Given the description of an element on the screen output the (x, y) to click on. 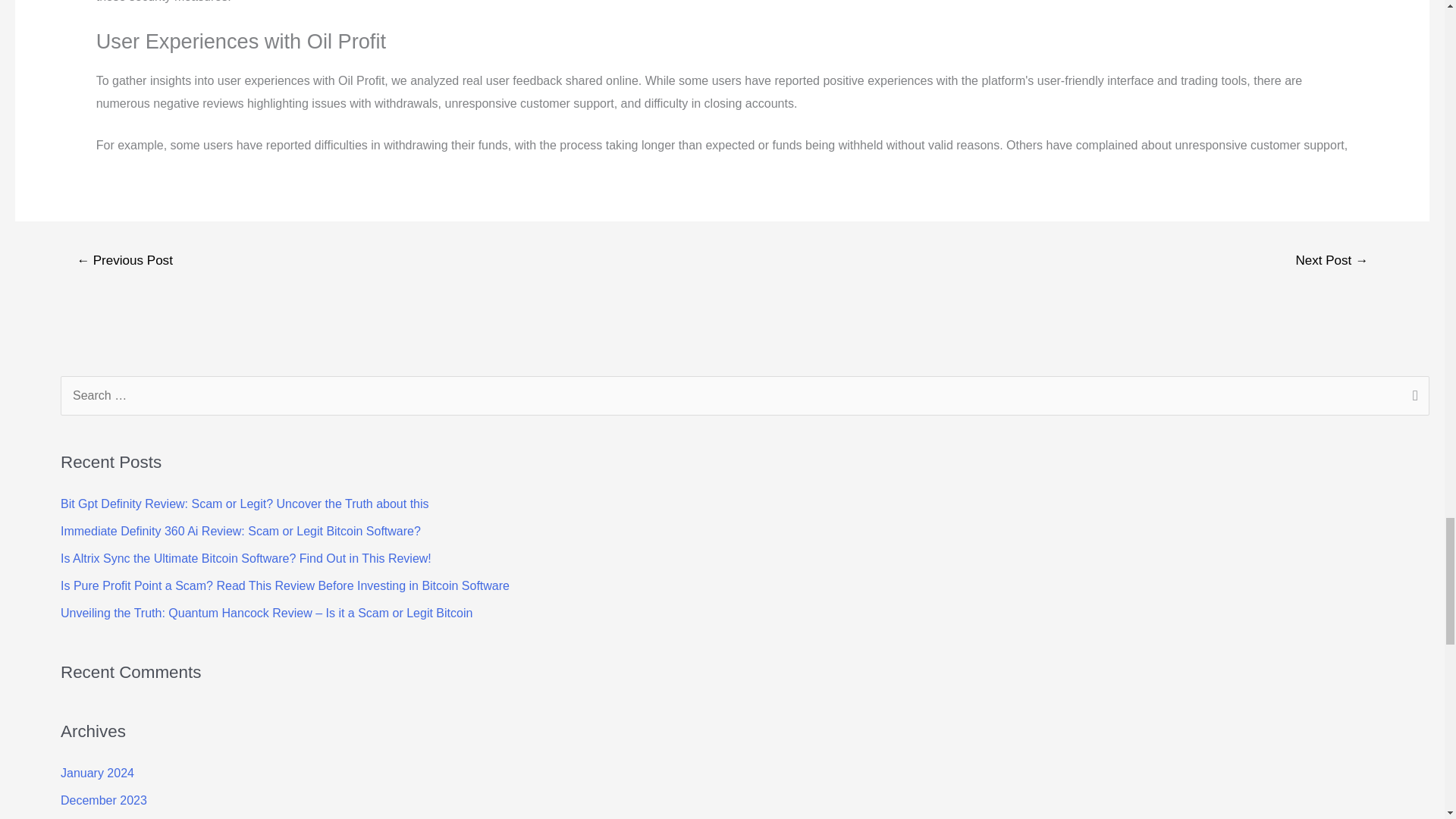
January 2024 (97, 772)
December 2023 (104, 799)
